Given the description of an element on the screen output the (x, y) to click on. 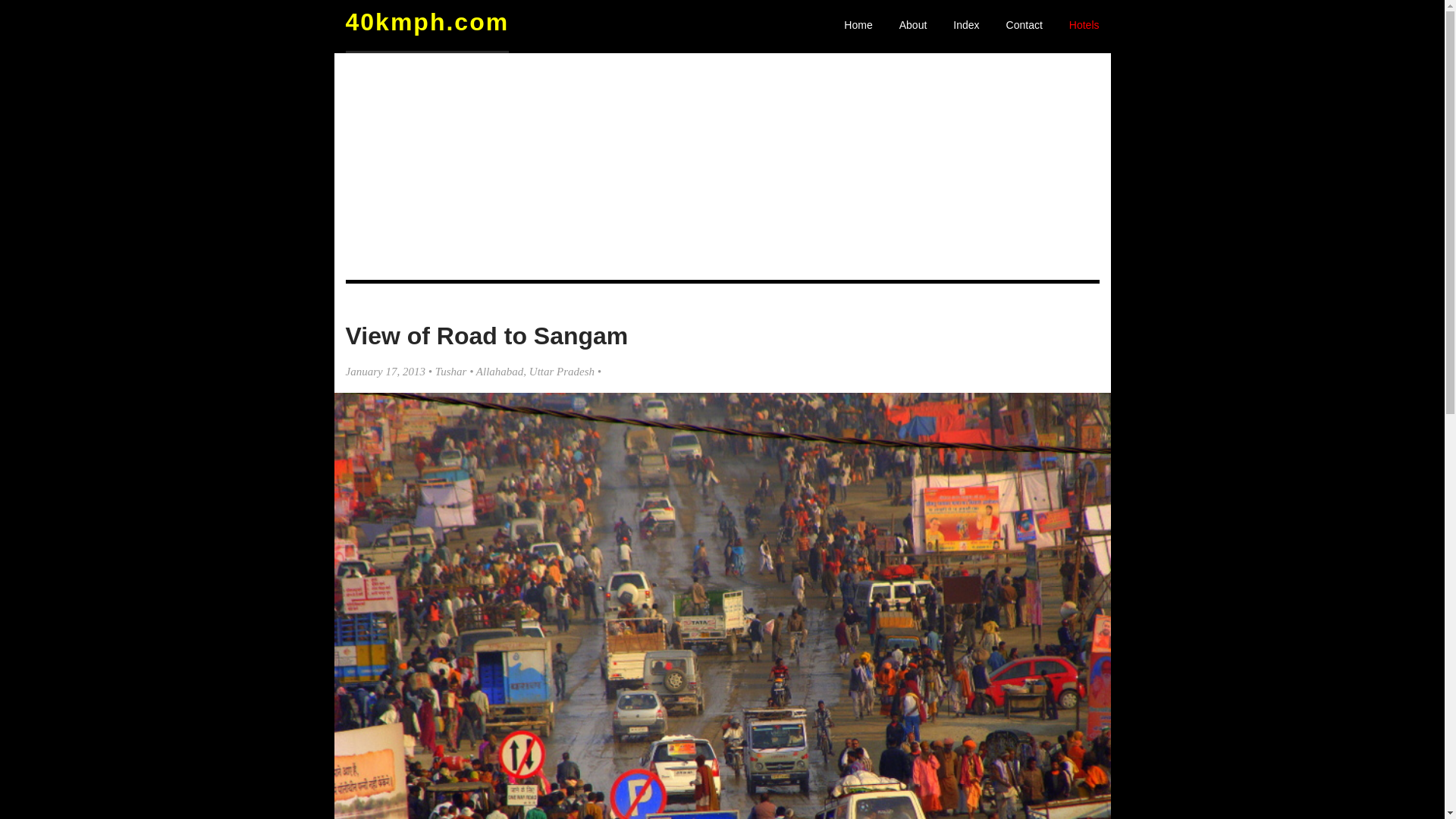
Home Element type: text (858, 30)
Allahabad Element type: text (500, 371)
40kmph.com Element type: text (427, 21)
Advertisement Element type: hover (722, 166)
Index Element type: text (966, 30)
About Element type: text (913, 30)
Hotels Element type: text (1084, 30)
Contact Element type: text (1024, 30)
Tushar Element type: text (451, 371)
Uttar Pradesh Element type: text (561, 371)
